Given the description of an element on the screen output the (x, y) to click on. 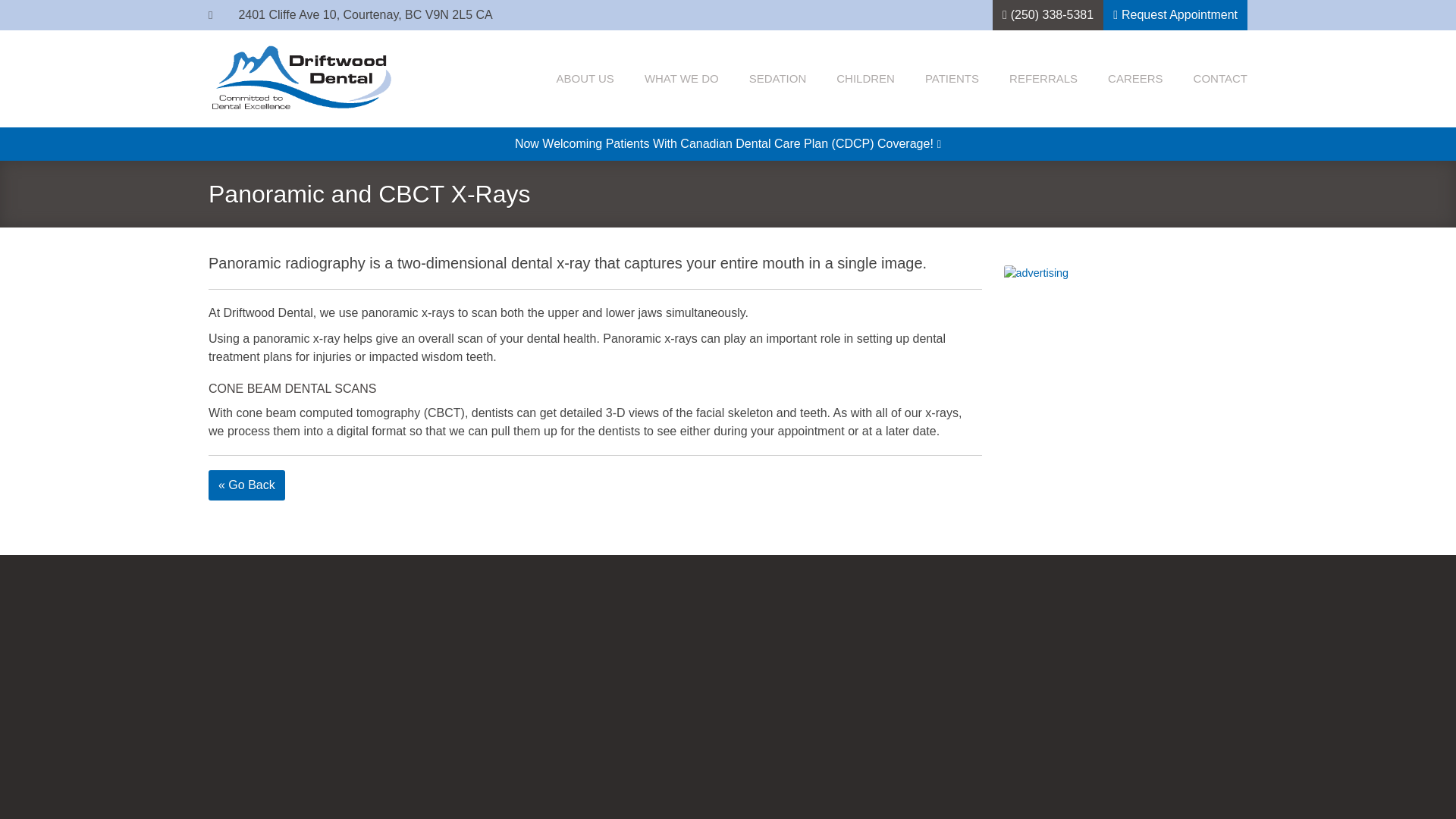
WHAT WE DO (682, 78)
Dental Services for Children, Courtenay (865, 78)
Request Appointment (1175, 15)
SEDATION (777, 78)
PATIENTS (951, 78)
CONTACT (1220, 78)
CHILDREN (865, 78)
REFERRALS (1043, 78)
ABOUT US (584, 78)
CAREERS (1135, 78)
About Courtenay Family Dentist (584, 78)
Sedation Services (777, 78)
Our Services (682, 78)
